Given the description of an element on the screen output the (x, y) to click on. 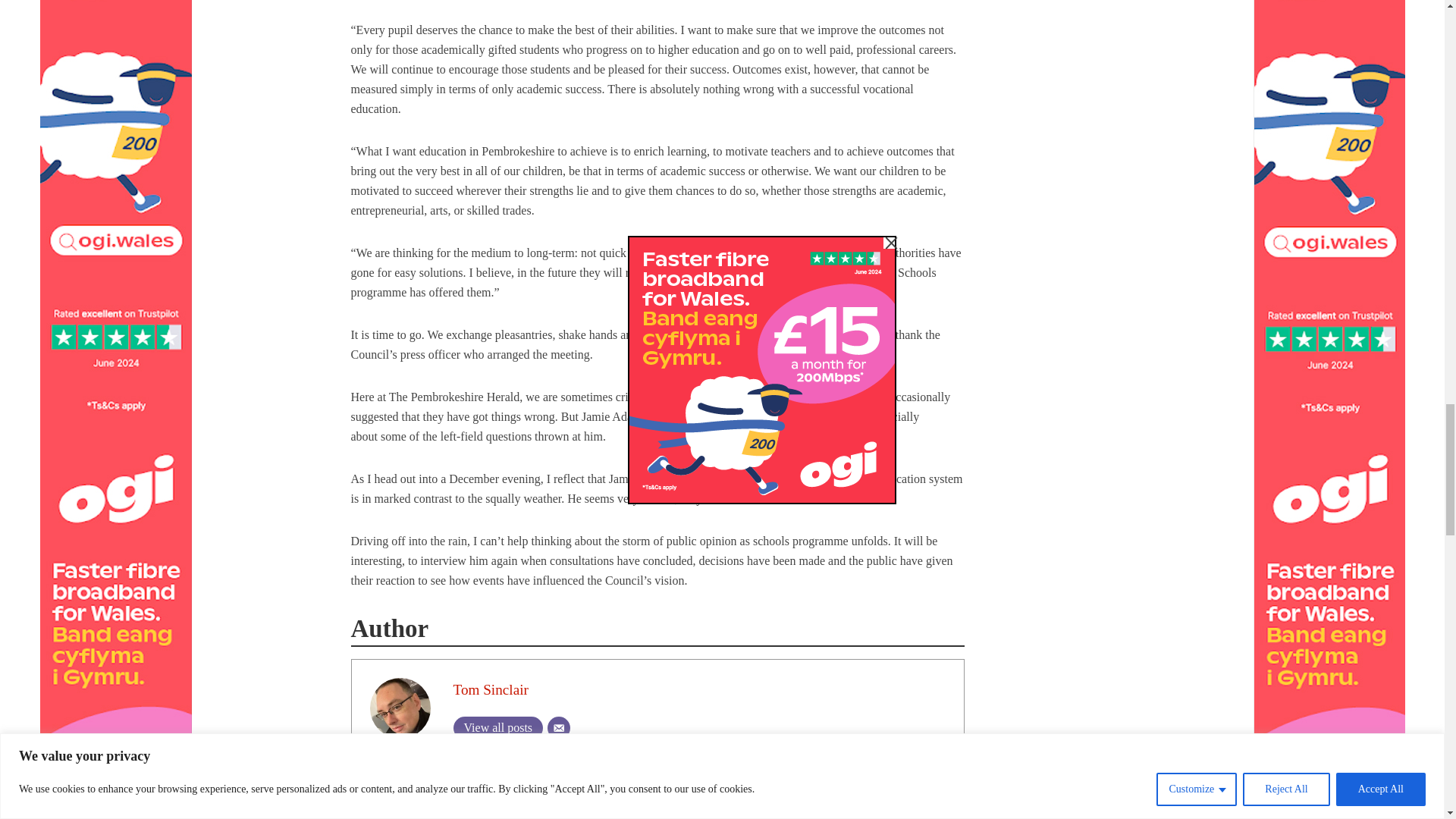
View all posts (497, 727)
Tom Sinclair (490, 689)
